Given the description of an element on the screen output the (x, y) to click on. 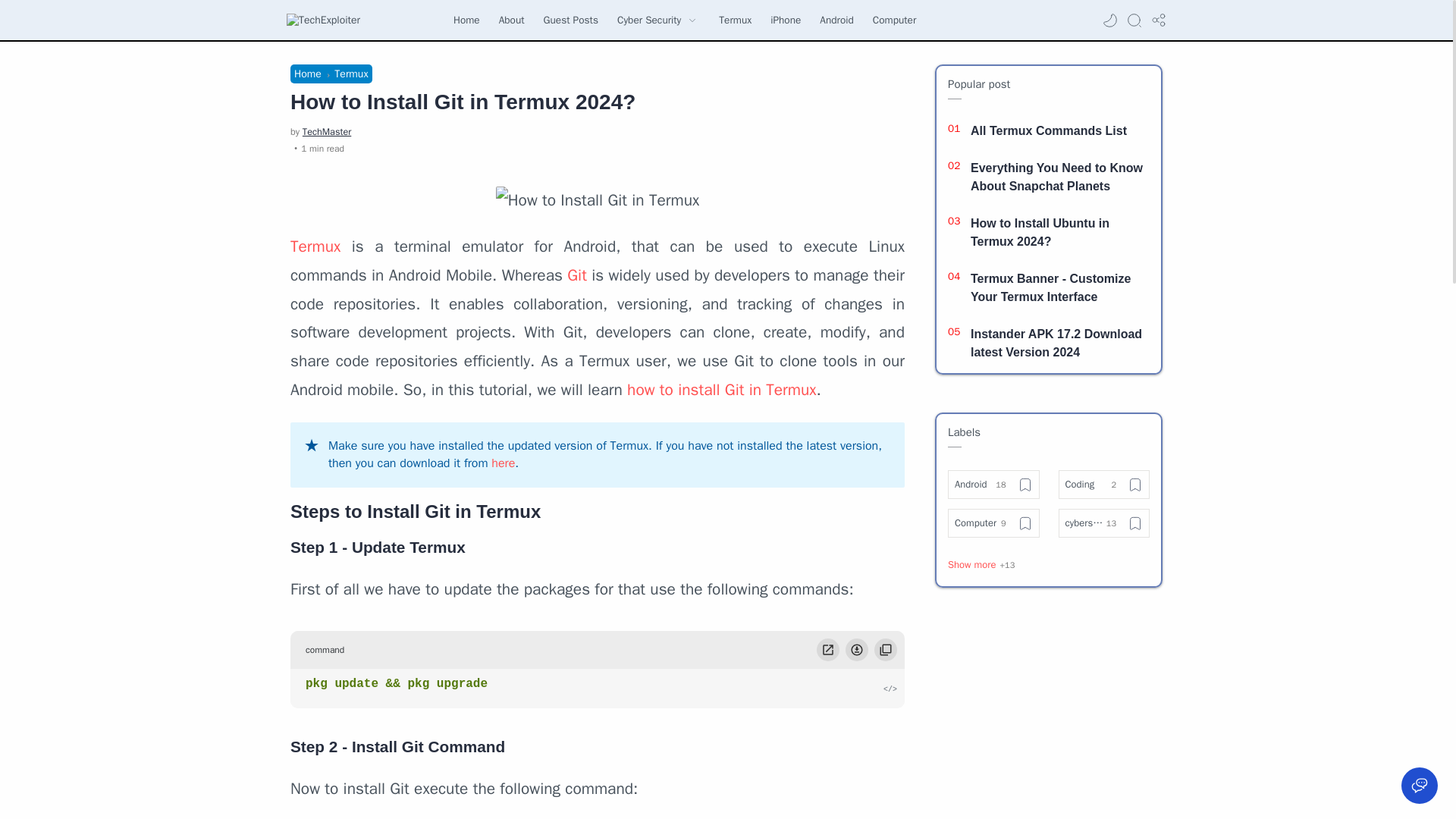
here (503, 462)
Home (307, 73)
Termux (351, 73)
Computer (893, 20)
Termux (314, 246)
TechExploiter (322, 20)
Git (576, 275)
how to install Git in Termux (721, 389)
How to Install Git in Termux (597, 200)
Guest Posts (570, 20)
